Given the description of an element on the screen output the (x, y) to click on. 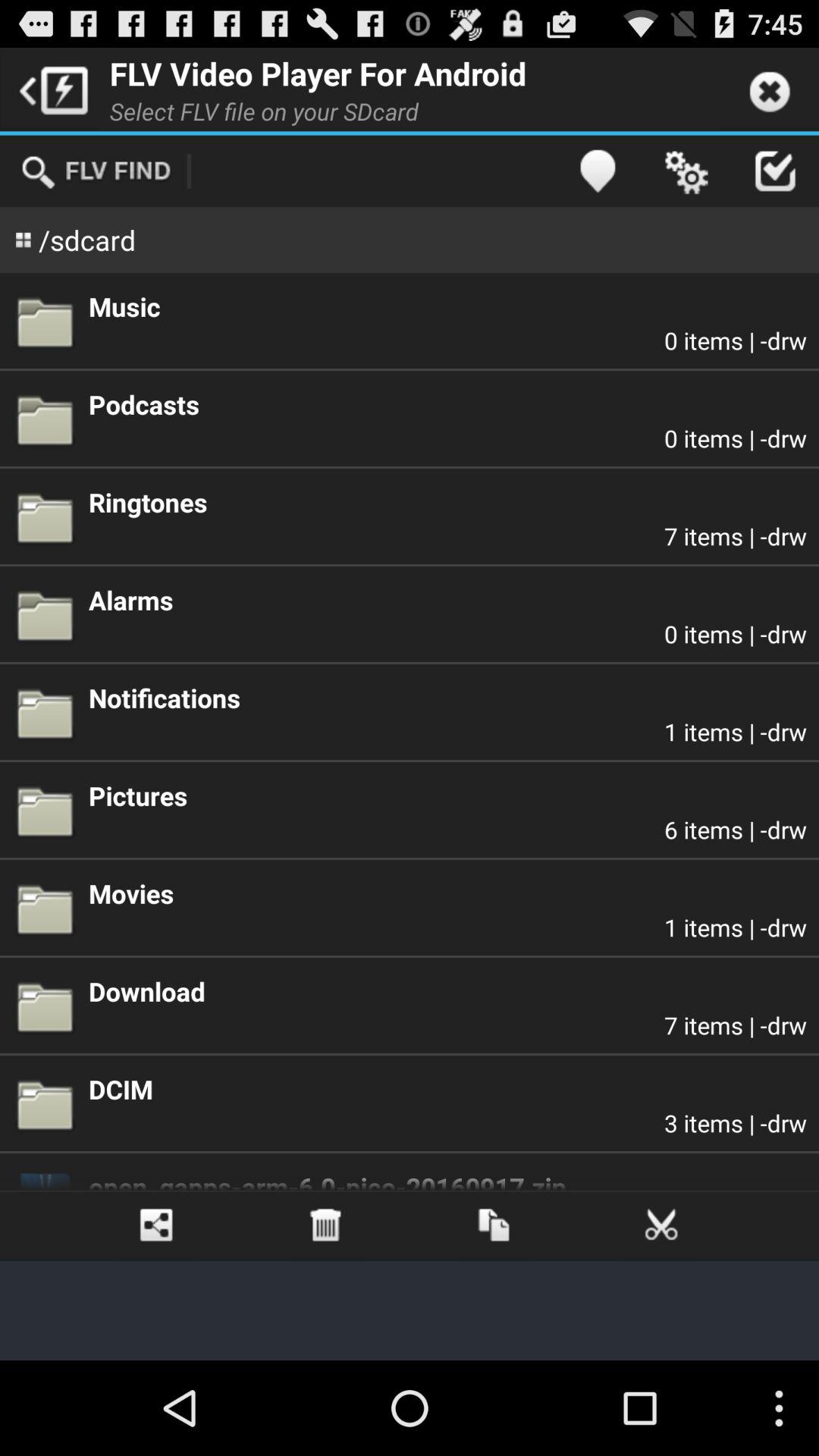
select app above the music icon (774, 171)
